Given the description of an element on the screen output the (x, y) to click on. 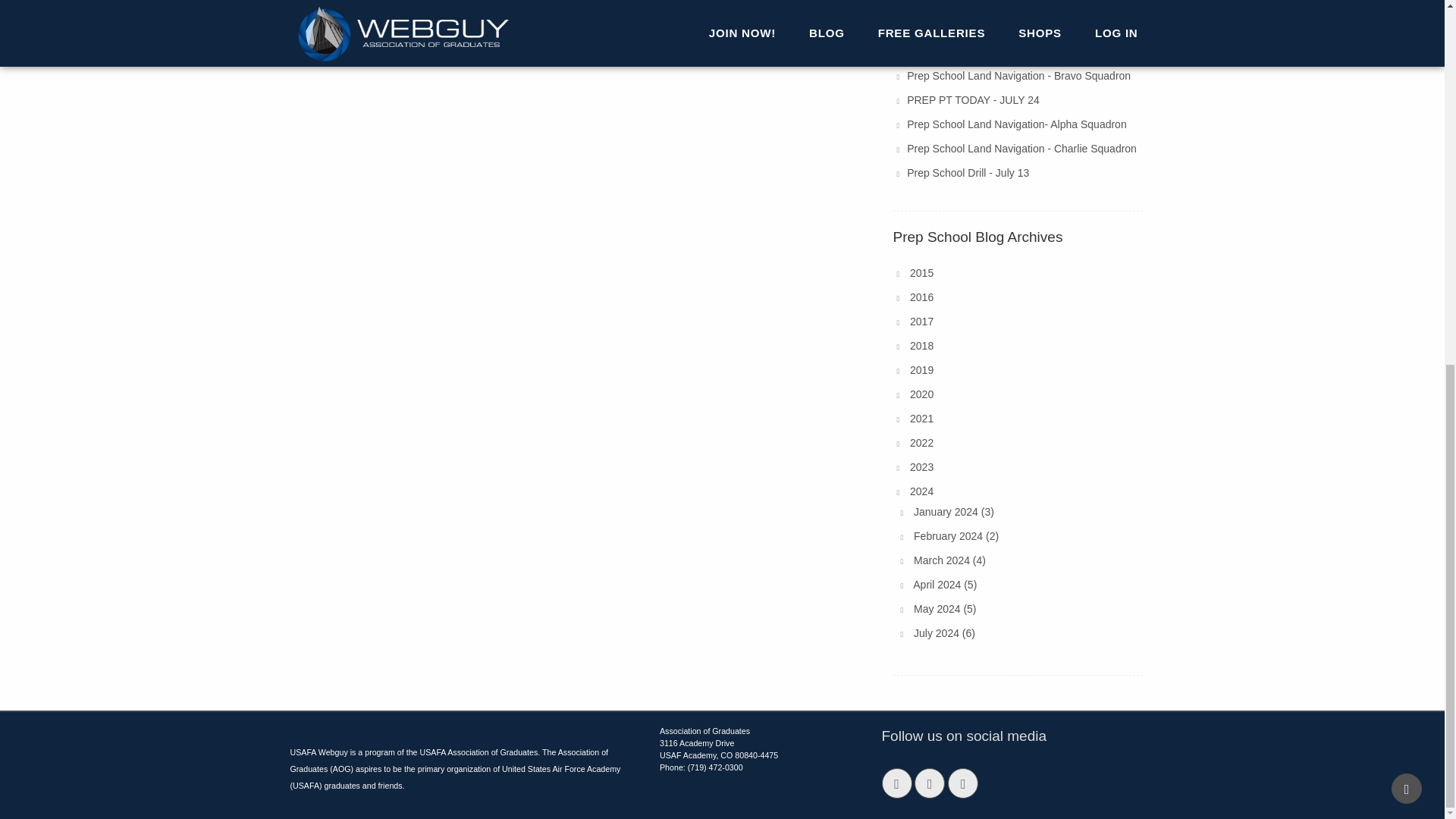
Prep School Drill - July 13 (968, 173)
Prep School Land Navigation - Bravo Squadron (1019, 75)
Prep PT Today - Friday July 27th! (985, 51)
2015 (921, 272)
PREP PT TODAY - JULY 24 (973, 100)
Prep School Land Navigation - Charlie Squadron (1022, 148)
Prep School Land Navigation- Alpha Squadron (1016, 123)
